Given the description of an element on the screen output the (x, y) to click on. 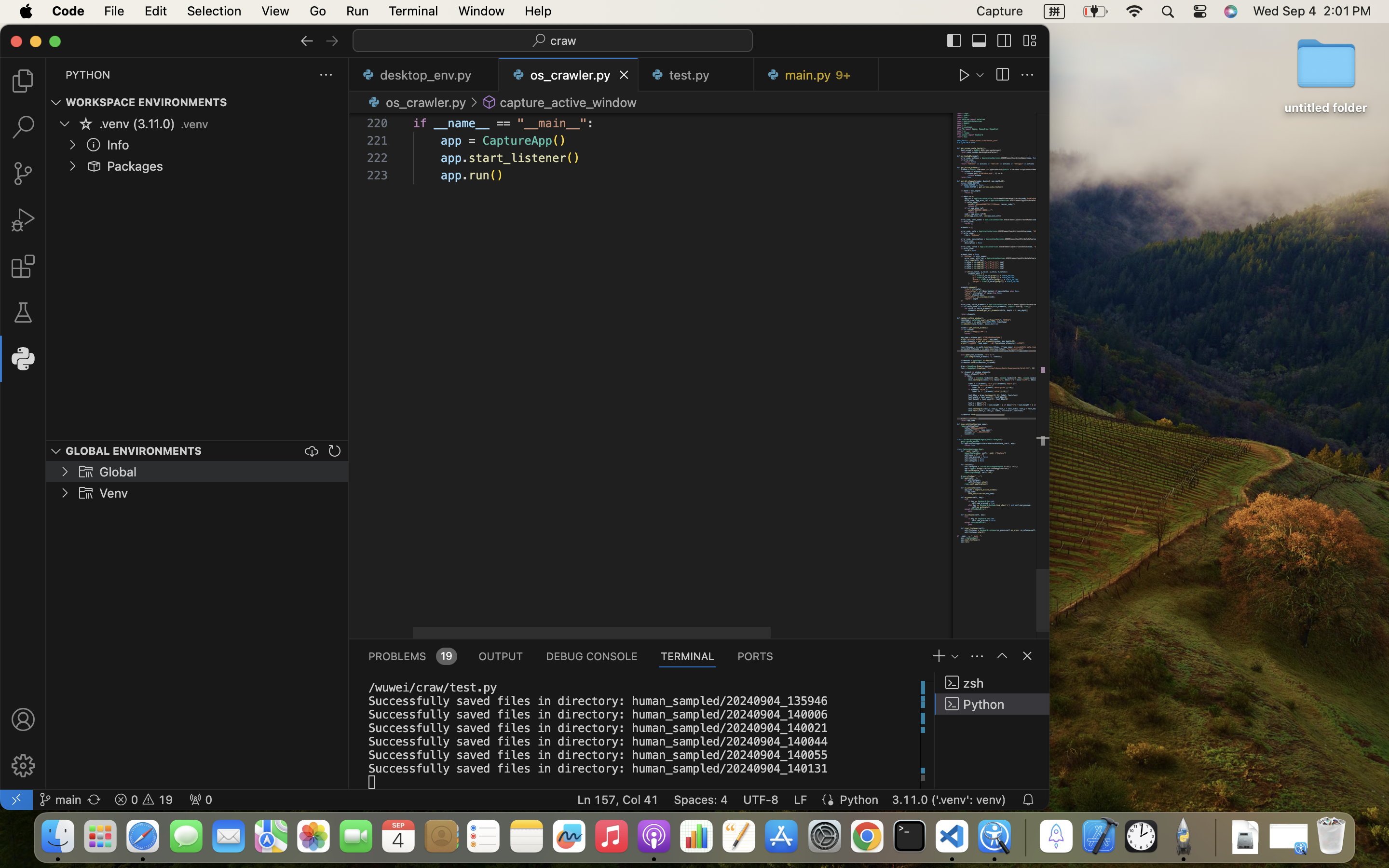
1 os_crawler.py   Element type: AXRadioButton (568, 74)
 Element type: AXStaticText (22, 765)
 Element type: AXButton (1028, 40)
 Element type: AXStaticText (489, 101)
 Element type: AXCheckBox (1001, 655)
